Given the description of an element on the screen output the (x, y) to click on. 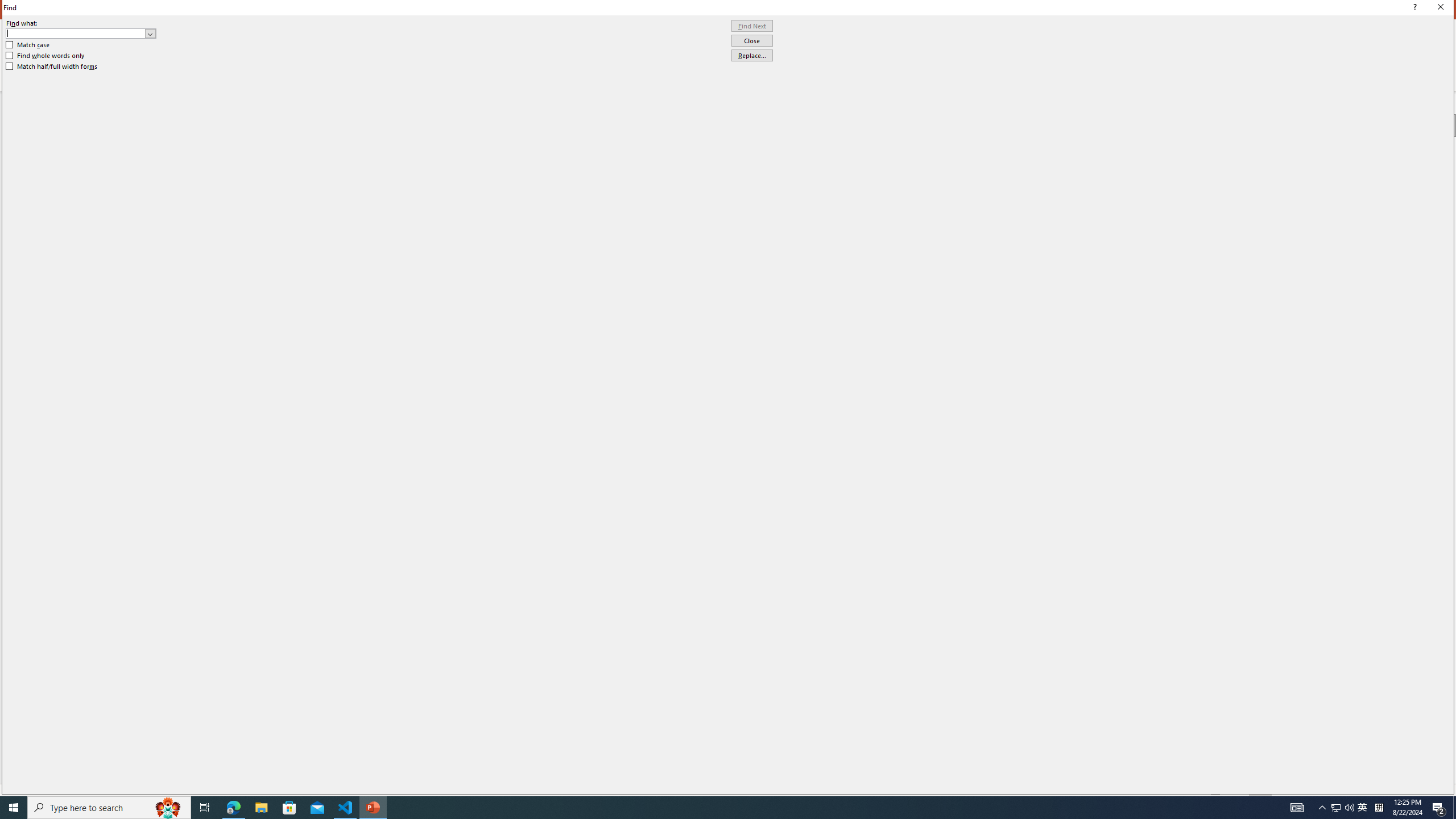
Find what (75, 33)
Find Next (751, 25)
Match half/full width forms (52, 66)
Find what (80, 33)
Find whole words only (45, 55)
Match case (27, 44)
